Given the description of an element on the screen output the (x, y) to click on. 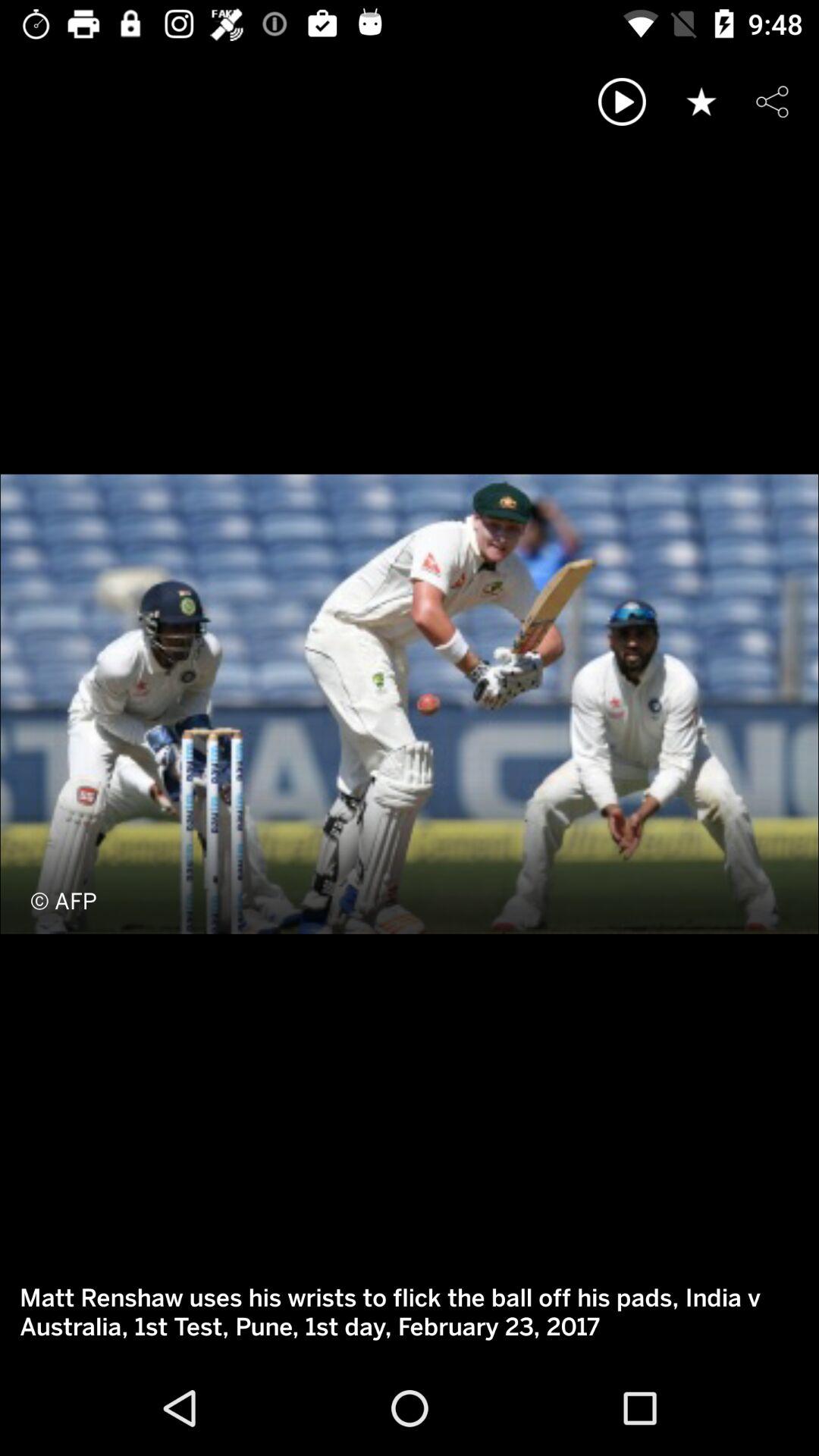
share the article (772, 101)
